Given the description of an element on the screen output the (x, y) to click on. 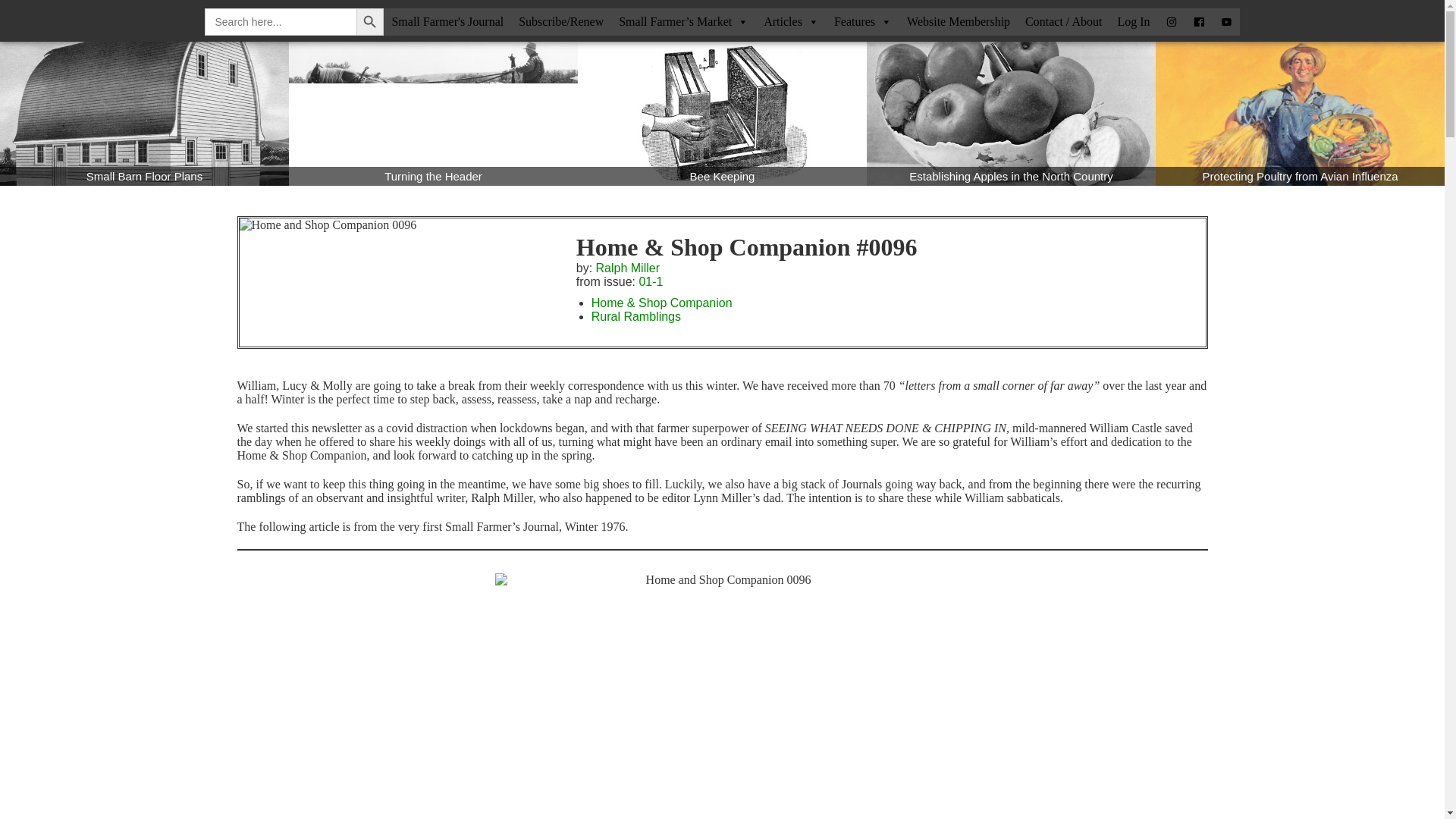
Small Barn Floor Plans (144, 112)
Log In (1133, 21)
Search Button (370, 22)
Website Membership (958, 21)
Features (863, 21)
Small Farmer's Journal (447, 21)
Articles (791, 21)
